Given the description of an element on the screen output the (x, y) to click on. 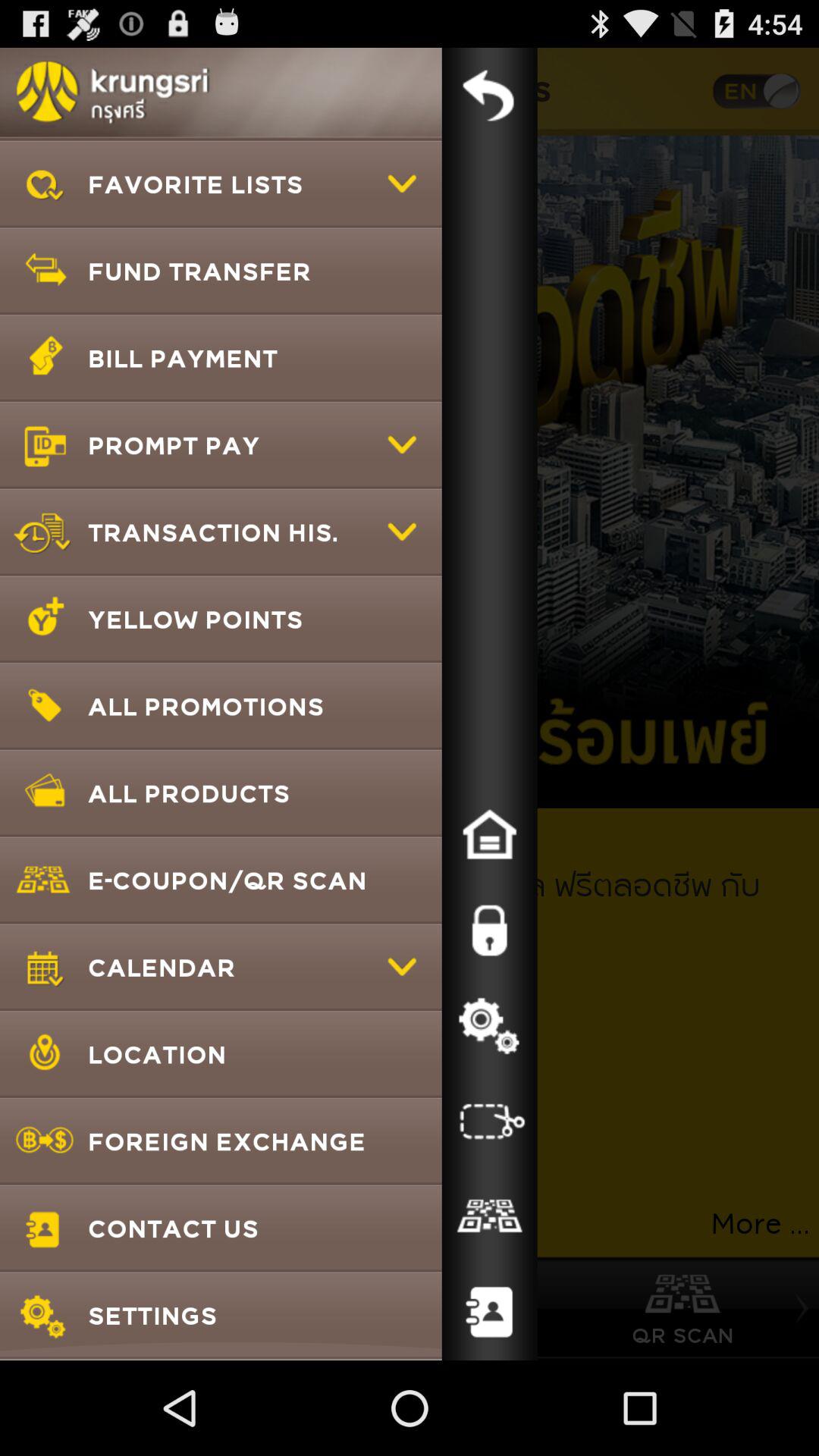
return home (489, 834)
